Given the description of an element on the screen output the (x, y) to click on. 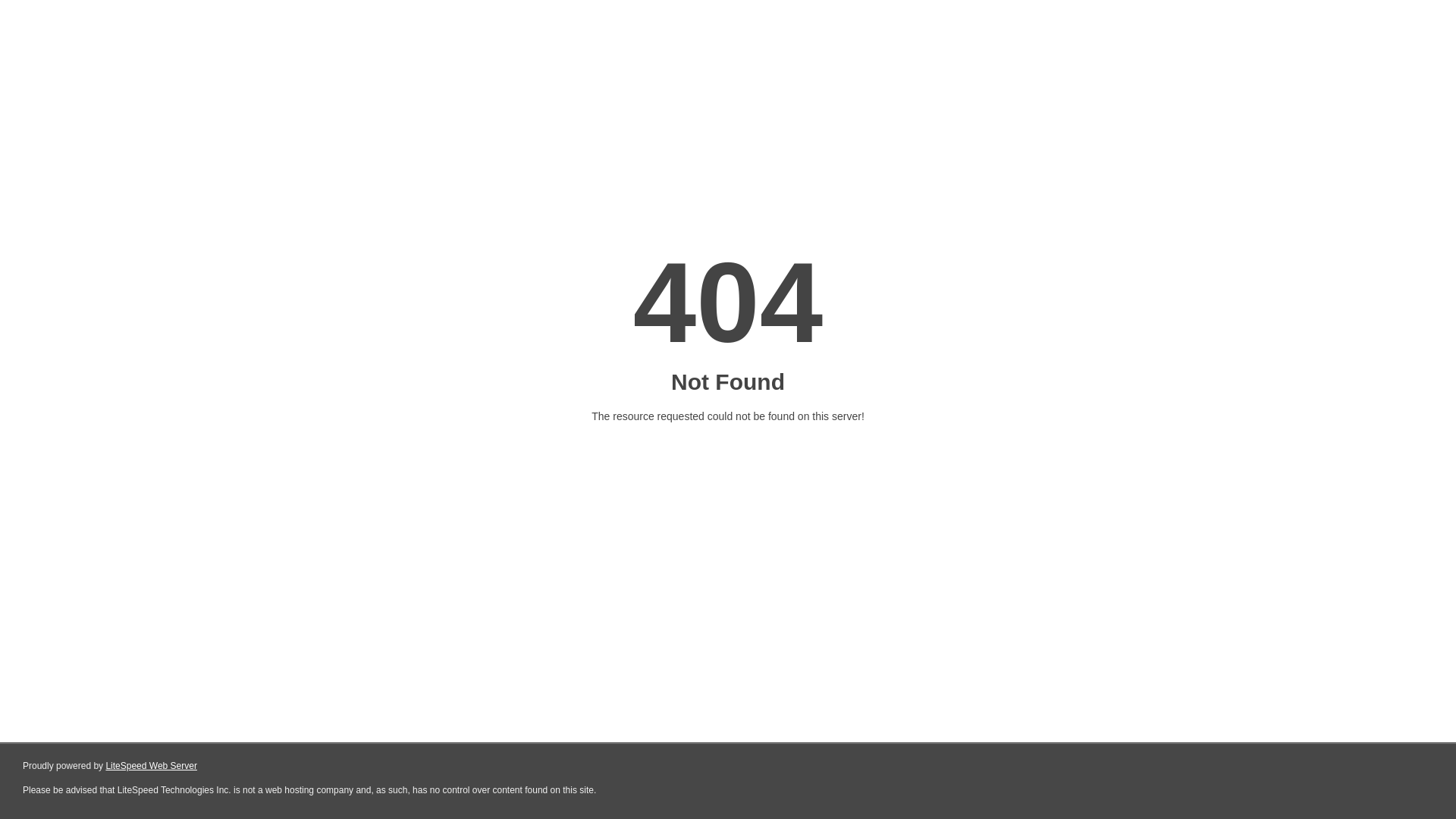
LiteSpeed Web Server Element type: text (151, 765)
